Given the description of an element on the screen output the (x, y) to click on. 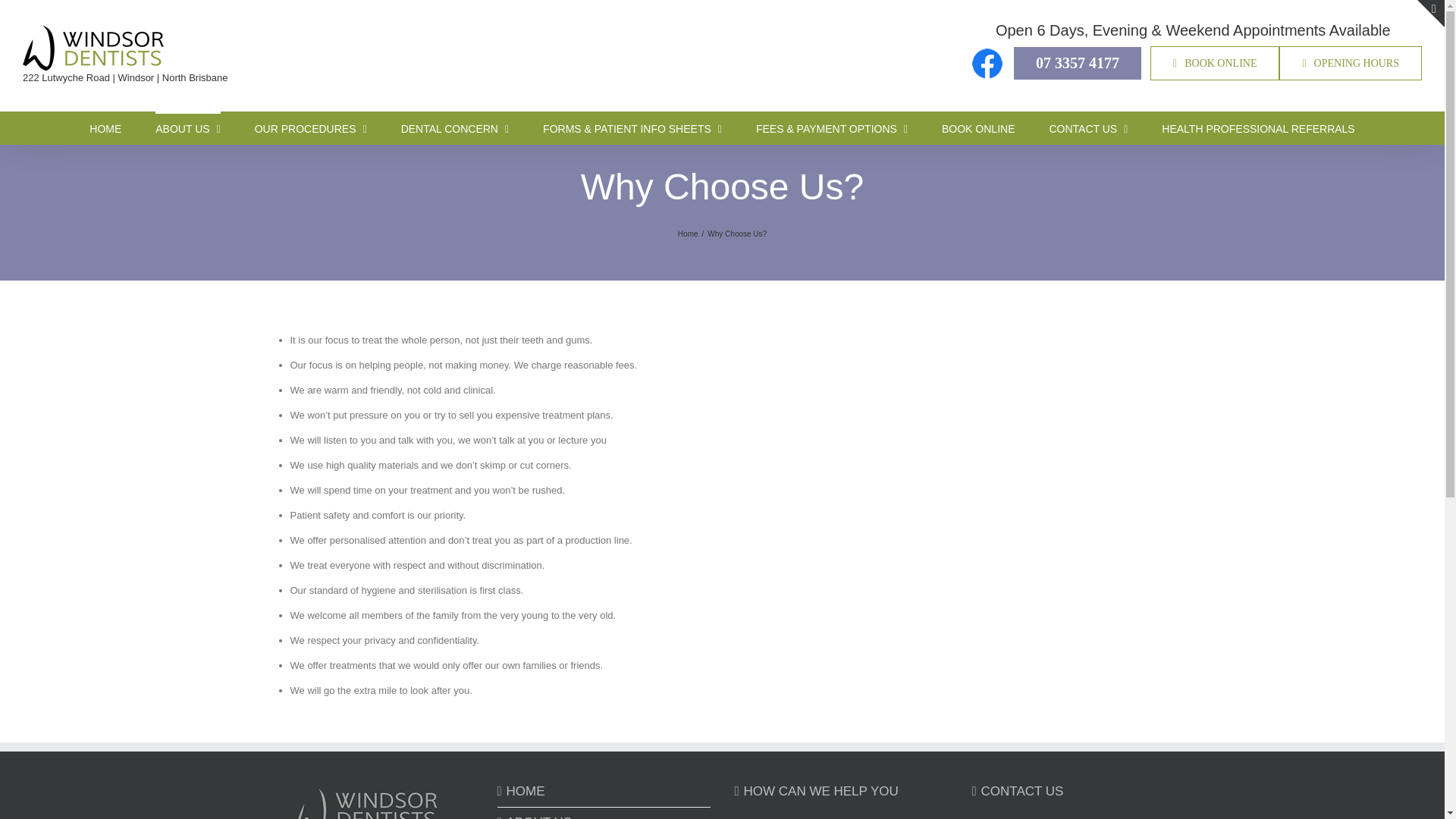
OUR PROCEDURES (310, 127)
BOOK ONLINE (1214, 62)
07 3357 4177 (1077, 62)
OPENING HOURS (1350, 62)
Book (1214, 62)
HOME (104, 127)
Opening Hours (1350, 62)
ABOUT US (187, 127)
